Given the description of an element on the screen output the (x, y) to click on. 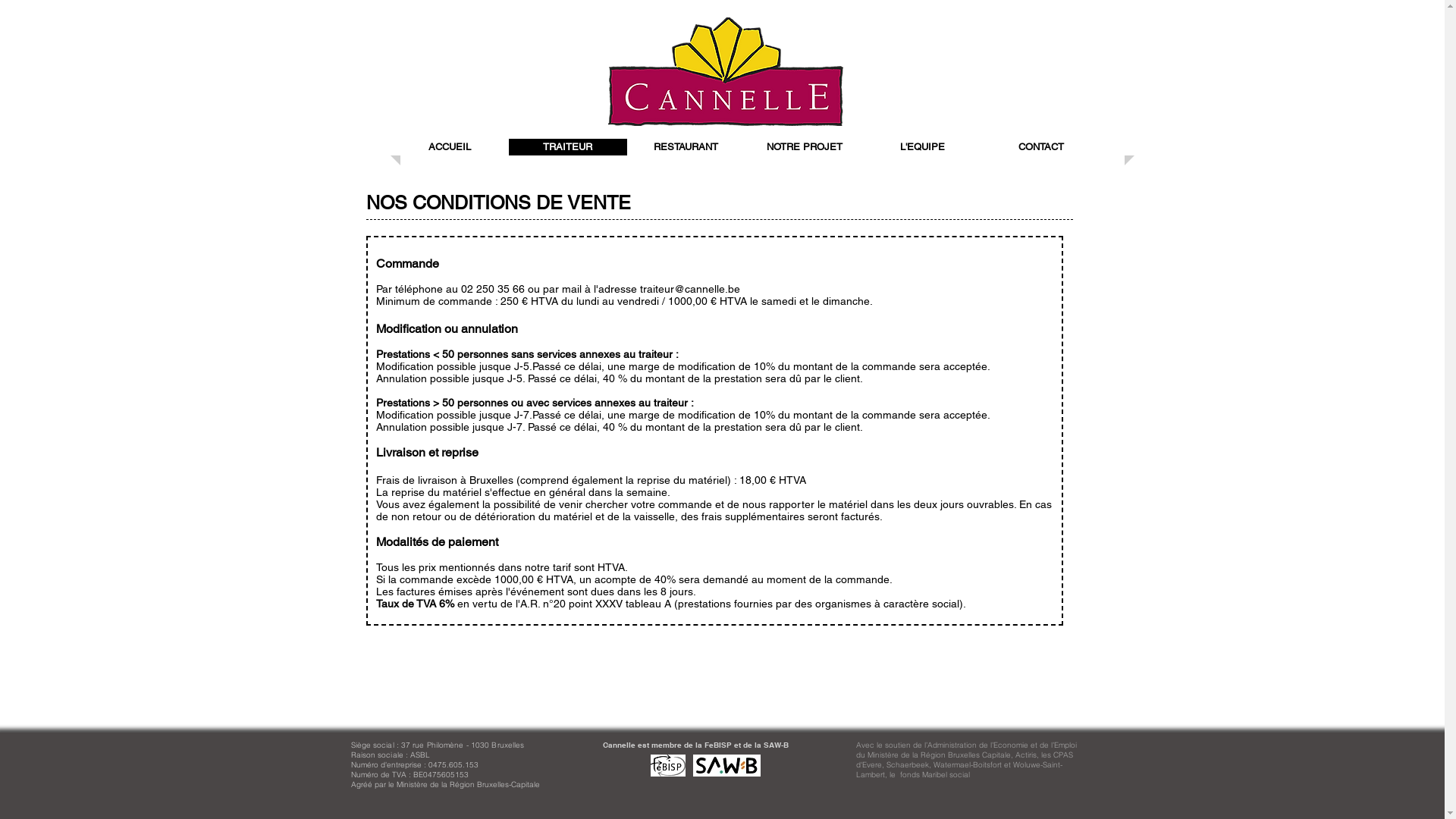
traiteur@cannelle.be Element type: text (690, 288)
Cannelle Traiteur Element type: hover (725, 71)
RESTAURANT Element type: text (685, 146)
ACCUEIL Element type: text (449, 146)
NOTRE PROJET Element type: text (804, 146)
CONTACT Element type: text (1040, 146)
L'EQUIPE Element type: text (922, 146)
TRAITEUR Element type: text (567, 146)
